Given the description of an element on the screen output the (x, y) to click on. 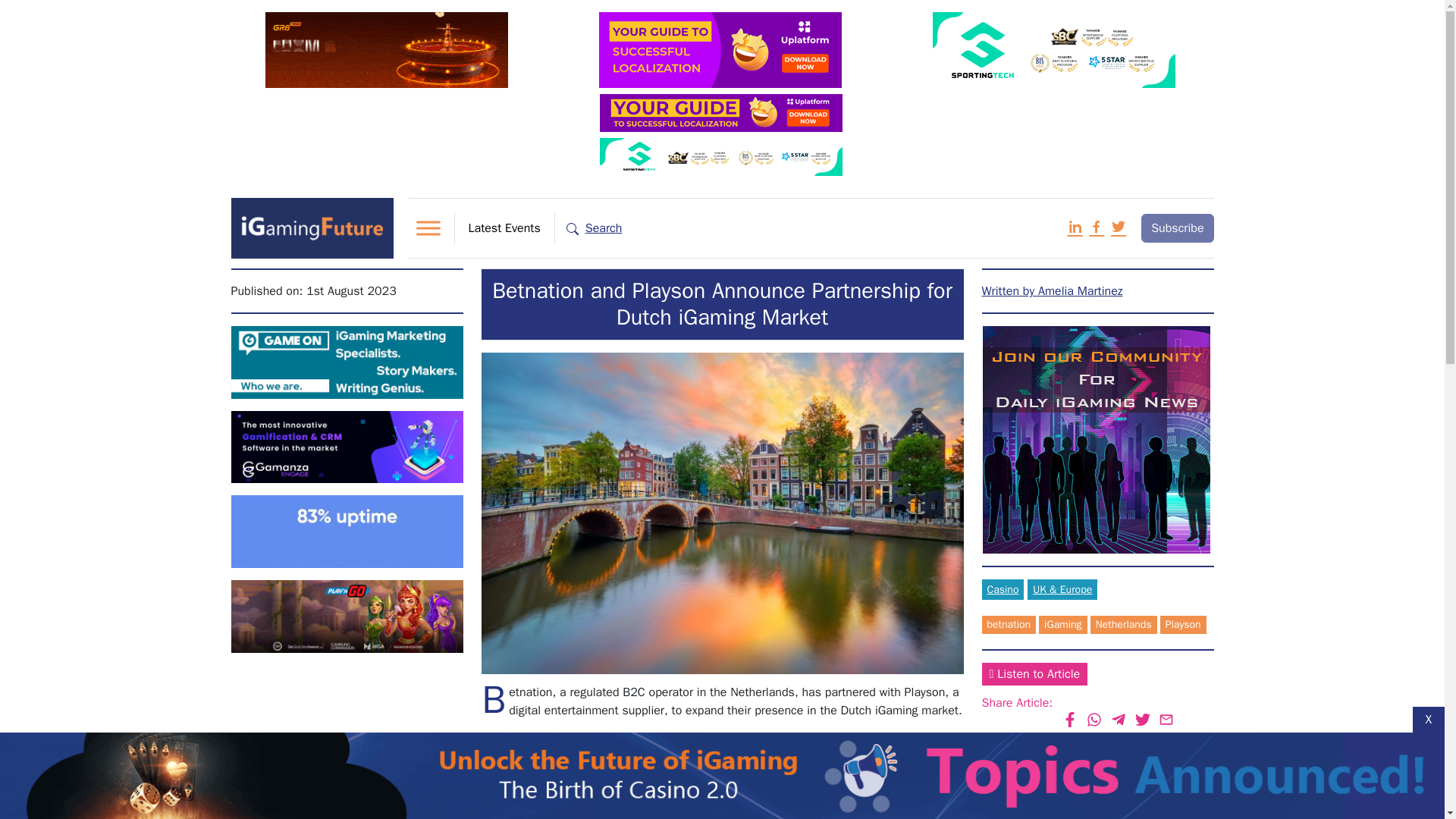
Share on Twitter (1142, 719)
Share via Email (1166, 719)
Share on Whatsapp (1094, 719)
Share on Facebook (1069, 719)
Amelia Martinez (1051, 290)
Share on Telegram (1118, 719)
